Given the description of an element on the screen output the (x, y) to click on. 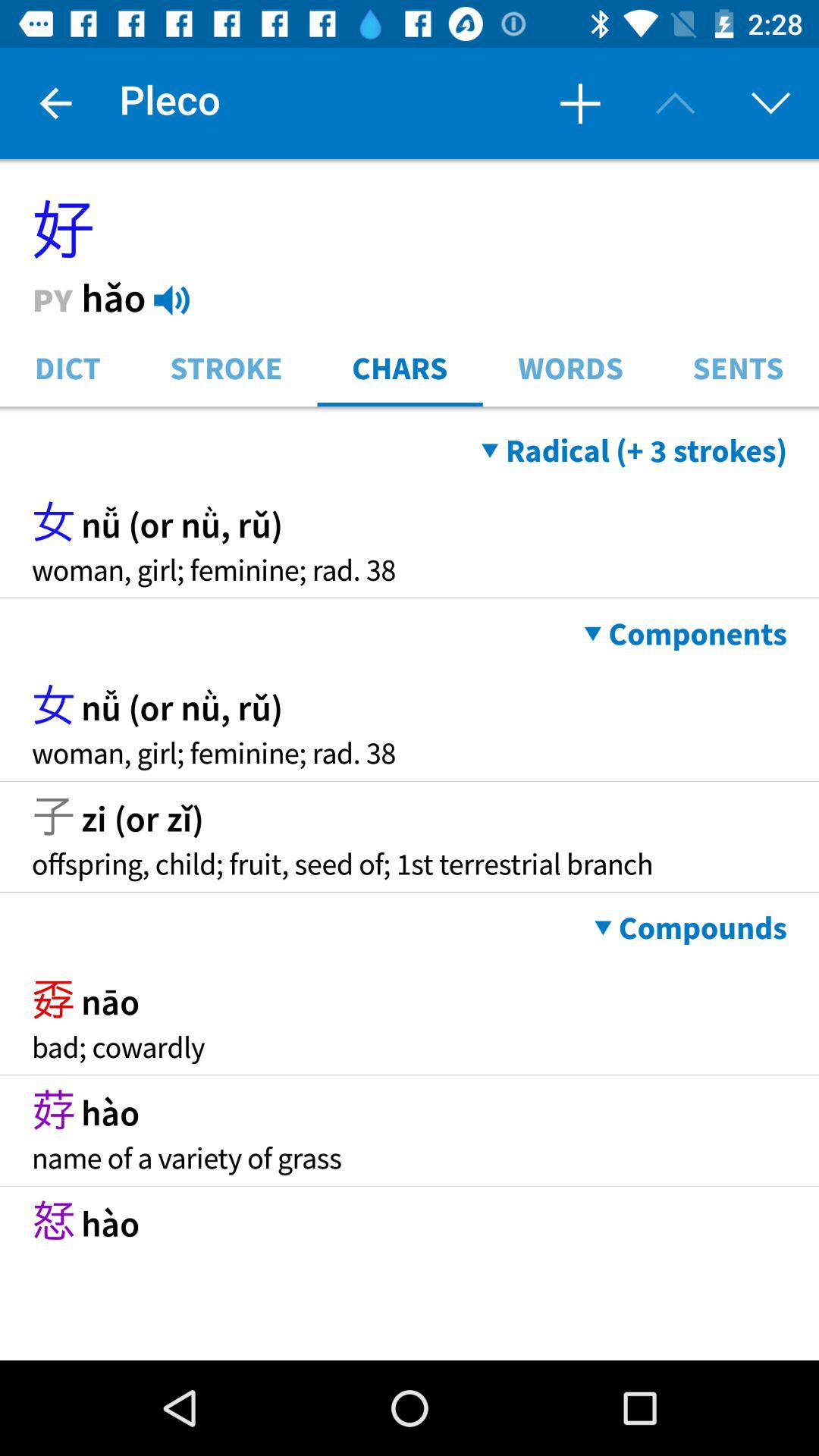
launch the icon above  radical (+ 3 strokes) item (409, 410)
